Given the description of an element on the screen output the (x, y) to click on. 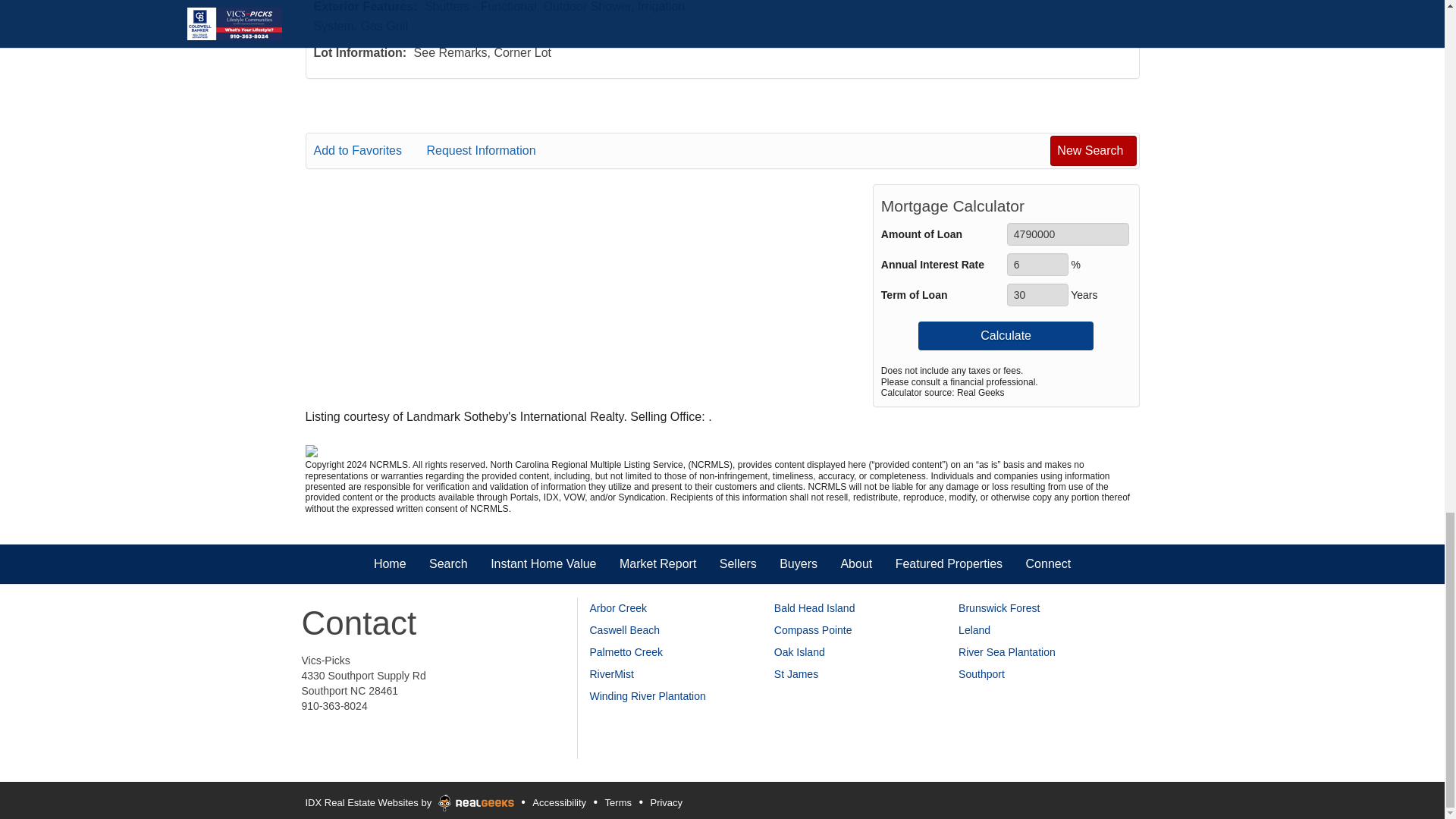
4790000 (1068, 233)
6 (1037, 264)
30 (1037, 294)
